Given the description of an element on the screen output the (x, y) to click on. 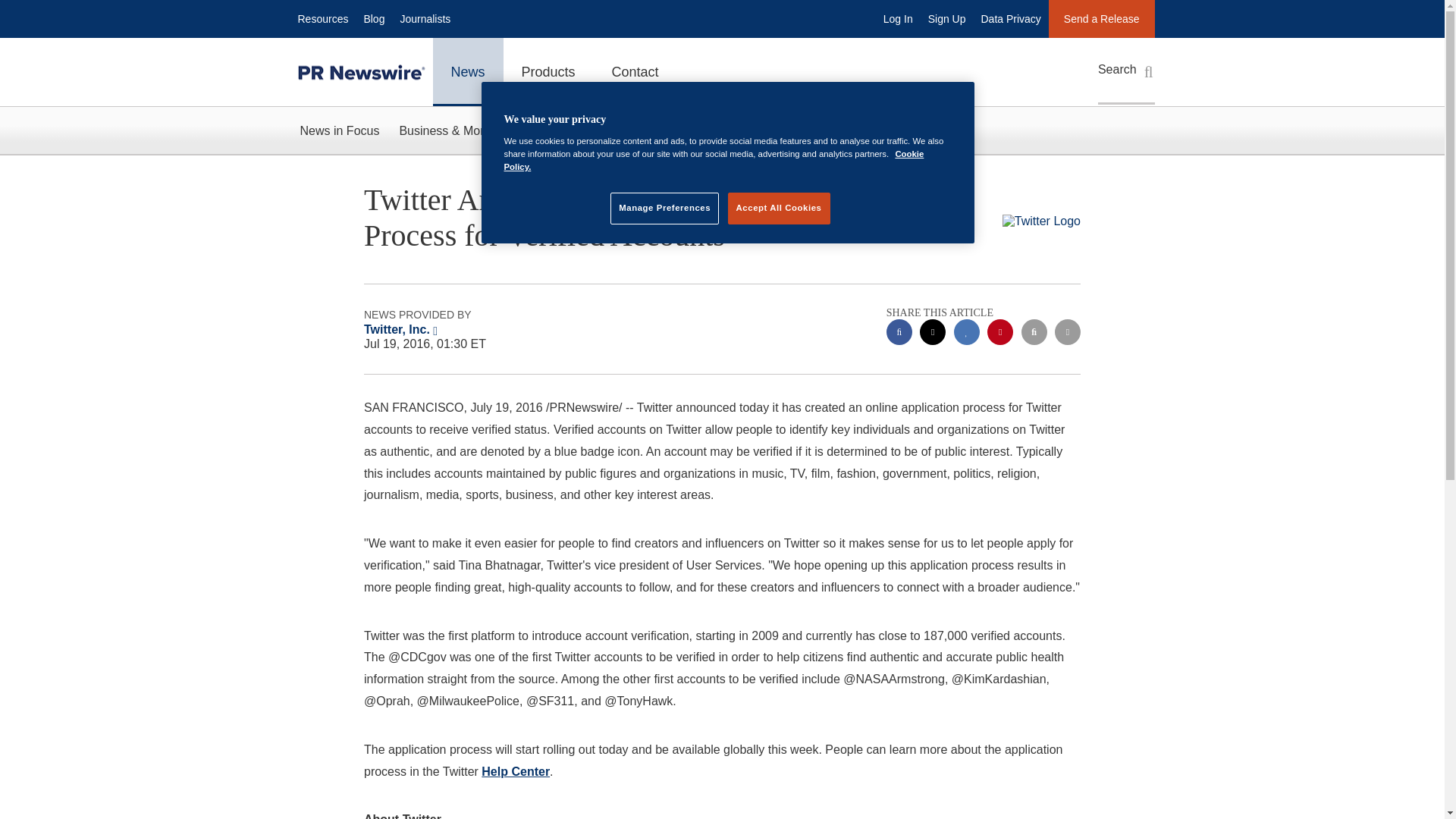
News in Focus (338, 130)
